Given the description of an element on the screen output the (x, y) to click on. 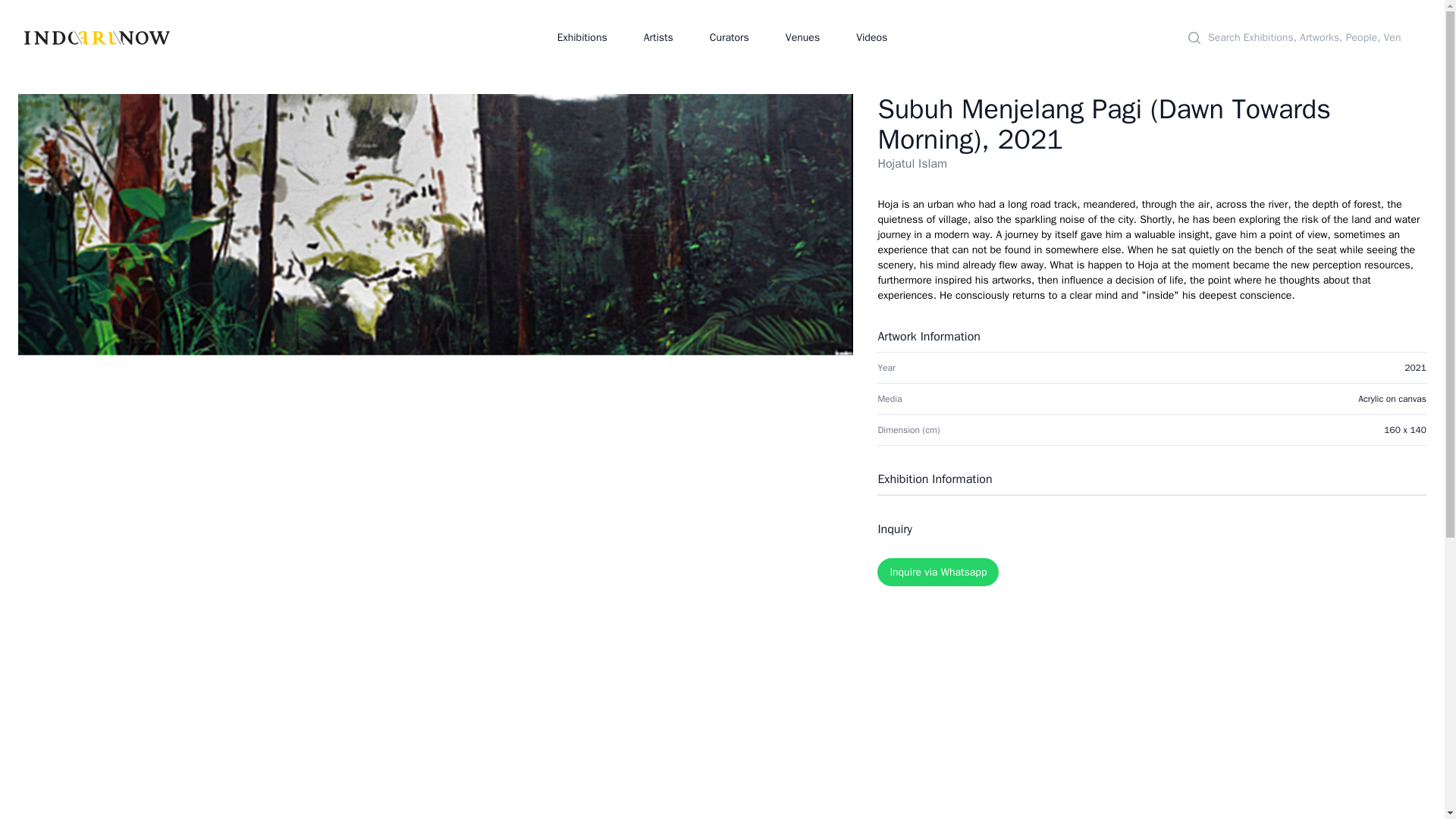
Inquire via Whatsapp (937, 571)
Artists (657, 37)
Exhibitions (582, 37)
Venues (802, 37)
Curators (729, 37)
Videos (871, 37)
IndoArtNow (97, 37)
Hojatul Islam (912, 163)
